Given the description of an element on the screen output the (x, y) to click on. 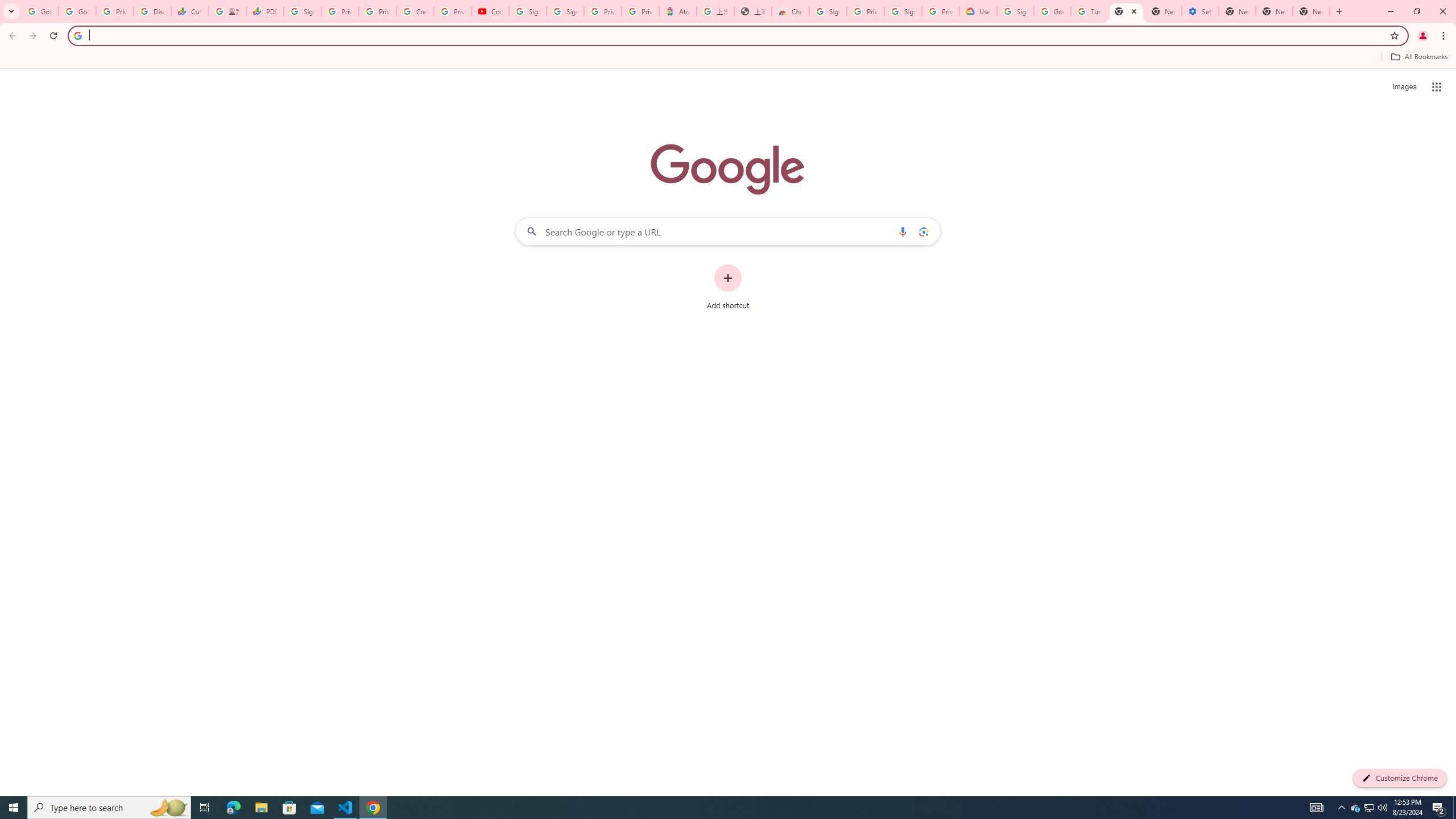
Turn cookies on or off - Computer - Google Account Help (1088, 11)
Sign in - Google Accounts (827, 11)
Privacy Checkup (377, 11)
Chrome Web Store - Color themes by Chrome (790, 11)
Google Account Help (1052, 11)
Settings - System (1200, 11)
